Given the description of an element on the screen output the (x, y) to click on. 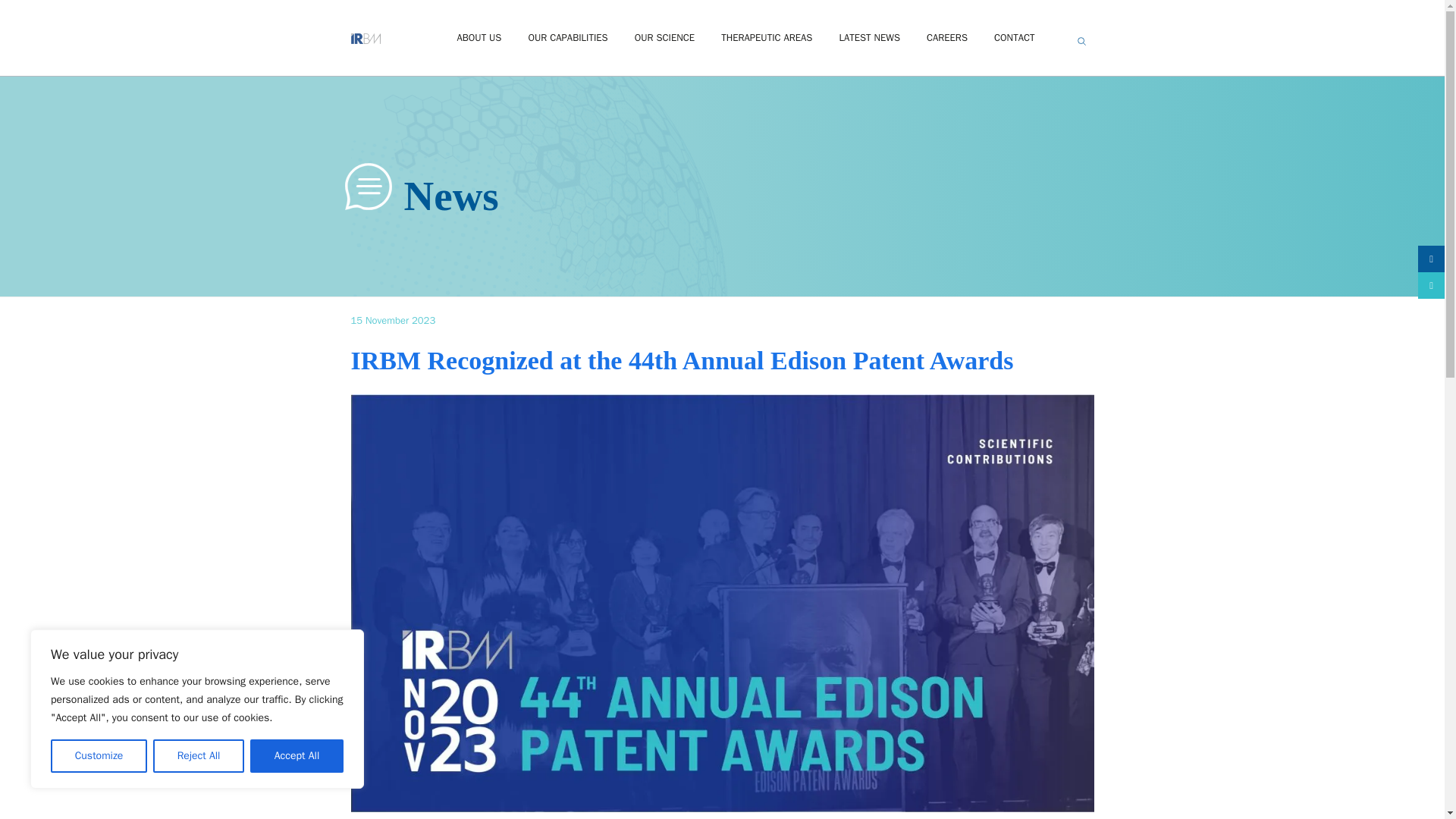
ABOUT US (478, 37)
Accept All (296, 756)
Reject All (198, 756)
Customize (98, 756)
OUR CAPABILITIES (567, 37)
